Given the description of an element on the screen output the (x, y) to click on. 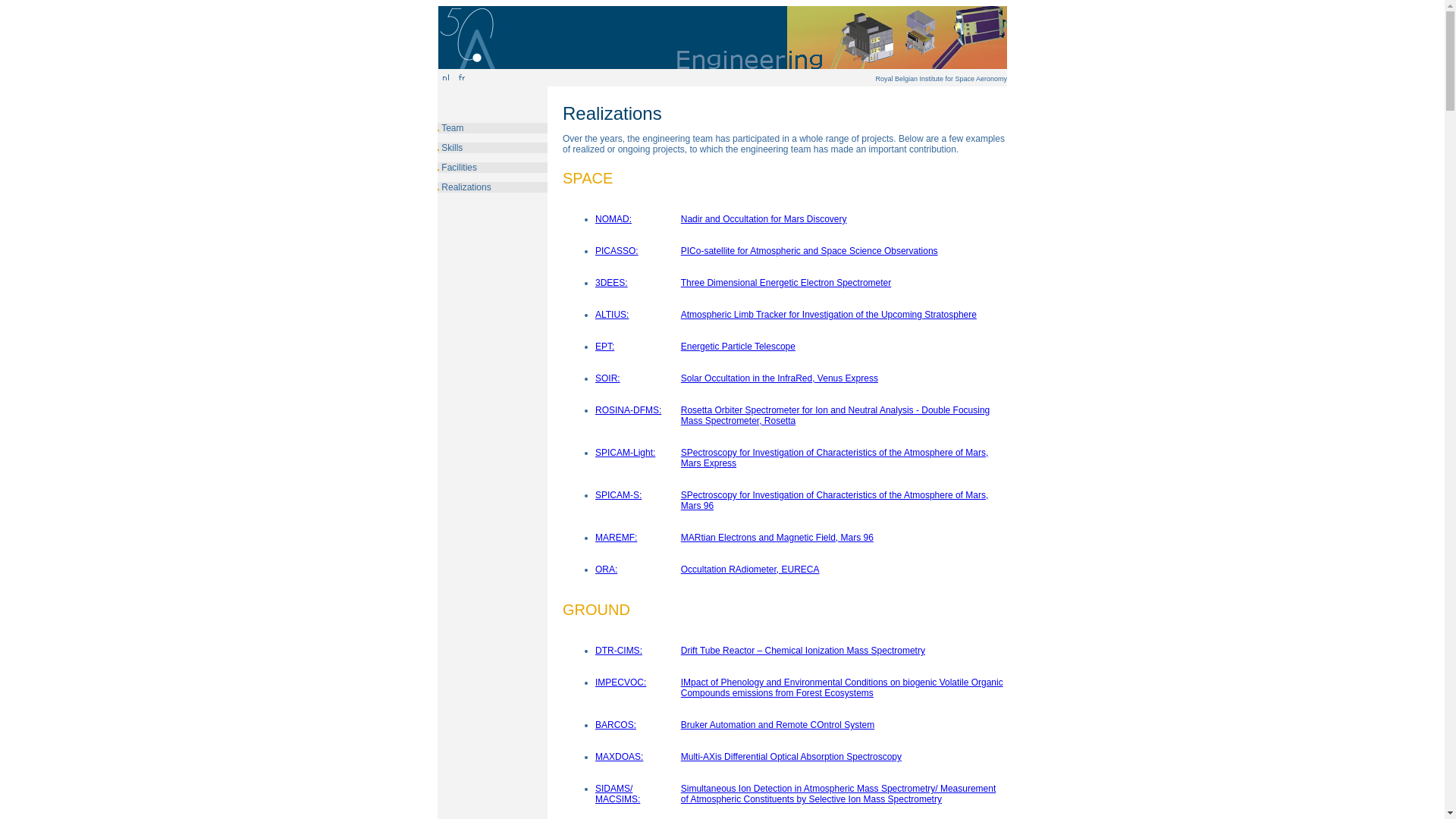
Skills Element type: text (451, 147)
MAXDOAS: Element type: text (619, 756)
DTR-CIMS: Element type: text (618, 650)
IMPECVOC: Element type: text (620, 682)
MAREMF: Element type: text (616, 537)
SOIR: Element type: text (607, 378)
Energetic Particle Telescope Element type: text (737, 346)
EPT: Element type: text (604, 346)
Facilities Element type: text (458, 167)
ROSINA-DFMS: Element type: text (628, 409)
Team Element type: text (452, 127)
BARCOS: Element type: text (615, 724)
MARtian Electrons and Magnetic Field, Mars 96 Element type: text (776, 537)
PICASSO: Element type: text (616, 250)
Three Dimensional Energetic Electron Spectrometer Element type: text (785, 282)
Occultation RAdiometer, EURECA Element type: text (749, 569)
ALTIUS: Element type: text (611, 314)
Bruker Automation and Remote COntrol System Element type: text (777, 724)
Realizations Element type: text (465, 187)
3DEES: Element type: text (611, 282)
SPICAM-Light: Element type: text (625, 452)
NOMAD: Element type: text (613, 218)
Multi-AXis Differential Optical Absorption Spectroscopy Element type: text (790, 756)
ORA: Element type: text (606, 569)
Nadir and Occultation for Mars Discovery Element type: text (763, 218)
Royal Belgian Institute for Space Aeronomy Element type: text (941, 78)
SIDAMS/
MACSIMS: Element type: text (617, 793)
Solar Occultation in the InfraRed, Venus Express Element type: text (779, 378)
SPICAM-S: Element type: text (618, 494)
